Given the description of an element on the screen output the (x, y) to click on. 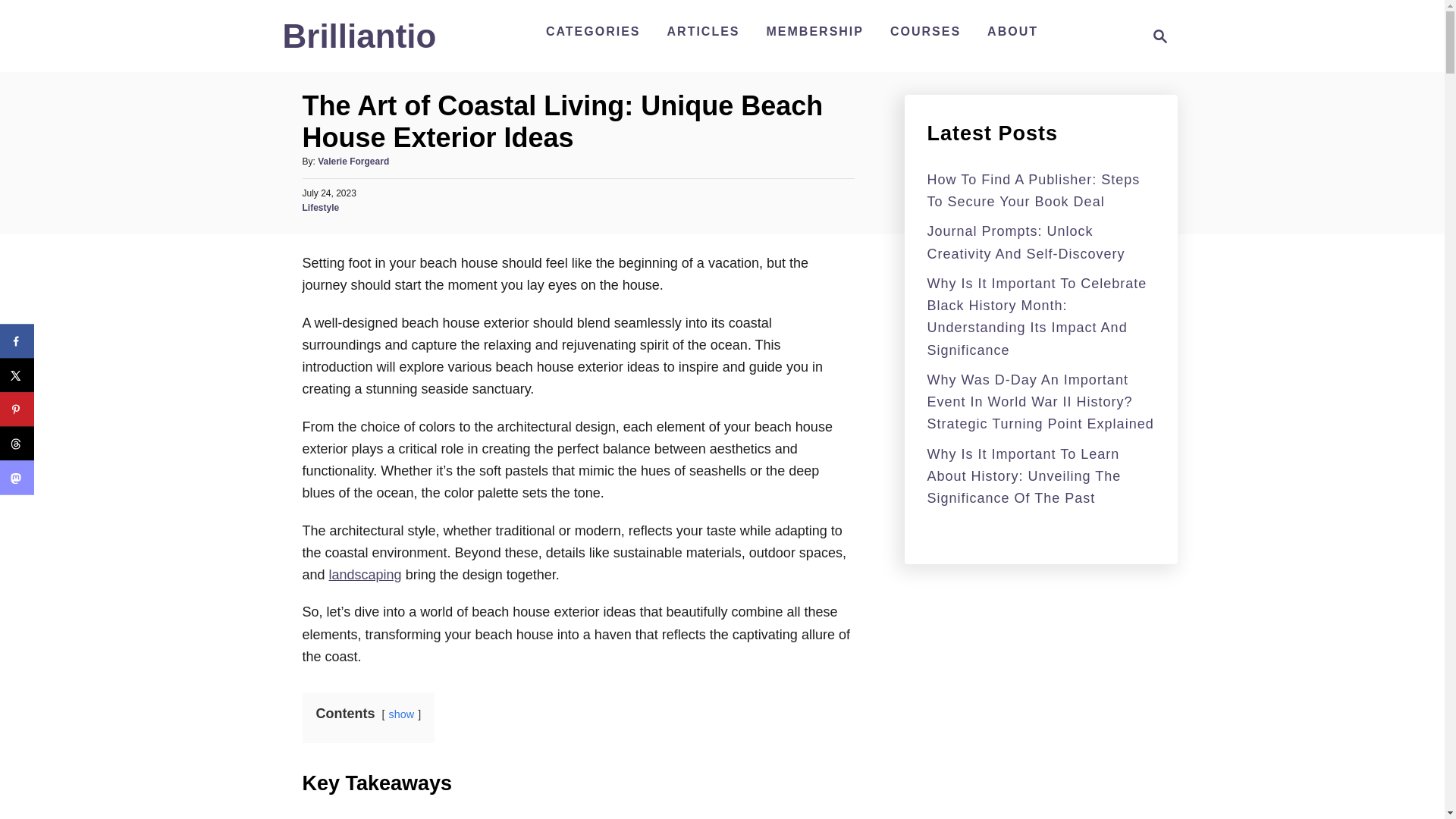
ARTICLES (703, 31)
Share on Facebook (16, 341)
ABOUT (1012, 31)
Lifestyle (320, 207)
MEMBERSHIP (814, 31)
Valerie Forgeard (352, 161)
Share on X (16, 374)
Brilliantio (1155, 36)
Brilliantio (358, 43)
